Given the description of an element on the screen output the (x, y) to click on. 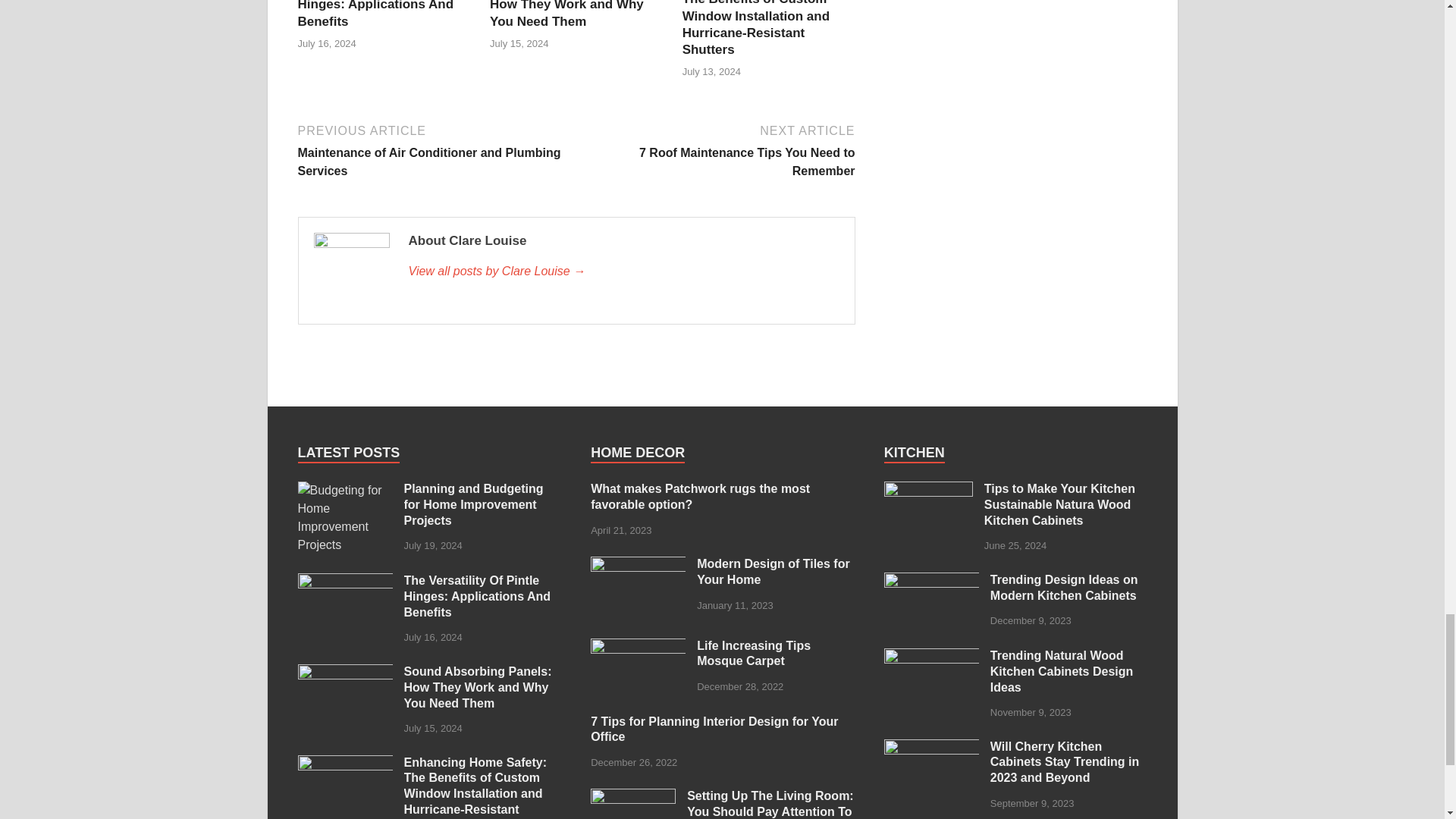
Clare Louise (622, 271)
Sound Absorbing Panels: How They Work and Why You Need Them (567, 13)
The Versatility Of Pintle Hinges: Applications And Benefits (374, 13)
